Given the description of an element on the screen output the (x, y) to click on. 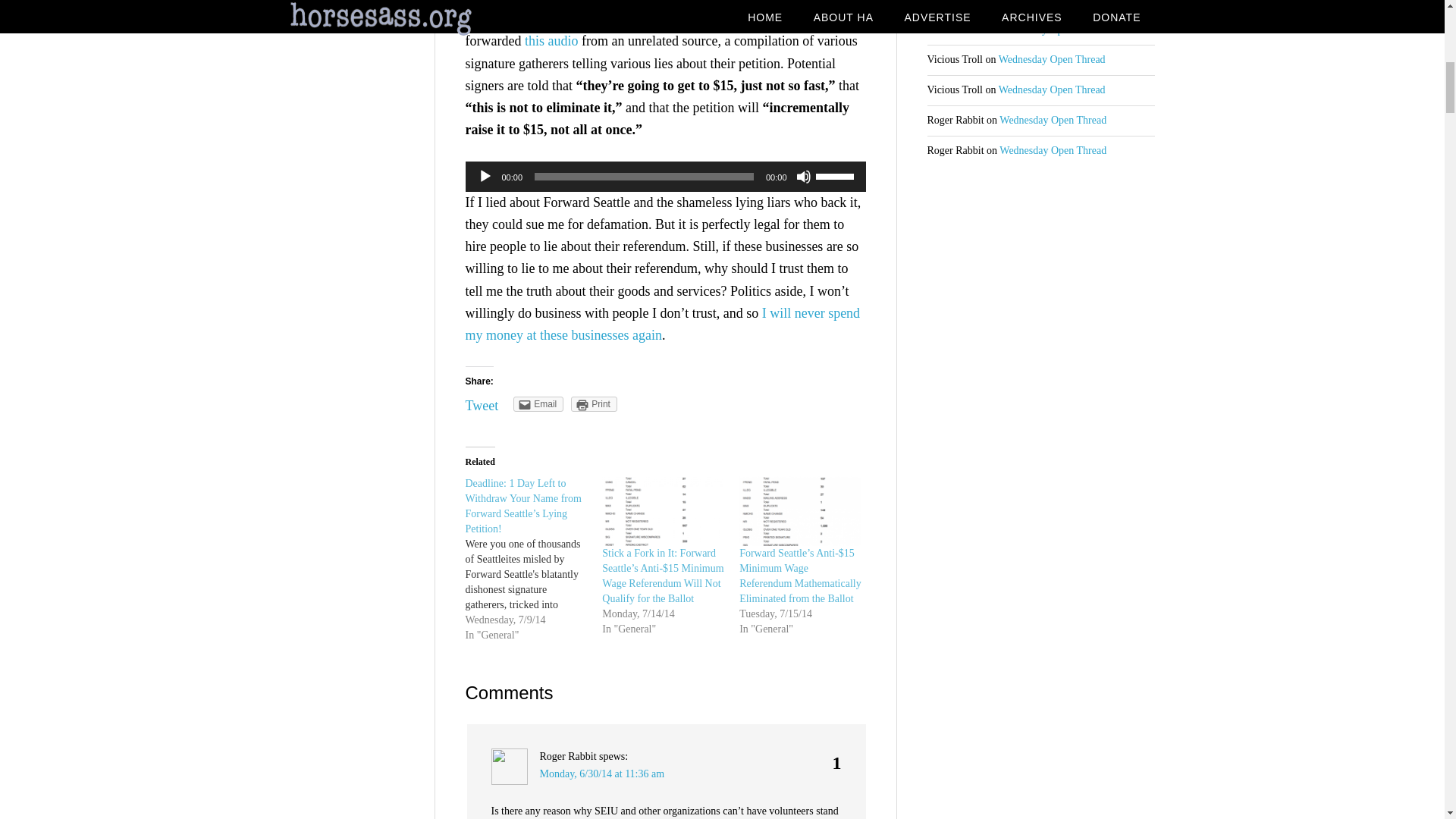
Click to email a link to a friend (538, 403)
I will never spend my money at these businesses again (662, 324)
this audio (551, 40)
Print (593, 403)
Email (538, 403)
Play (485, 176)
Click to print (593, 403)
Mute (803, 176)
Tweet (482, 405)
